Given the description of an element on the screen output the (x, y) to click on. 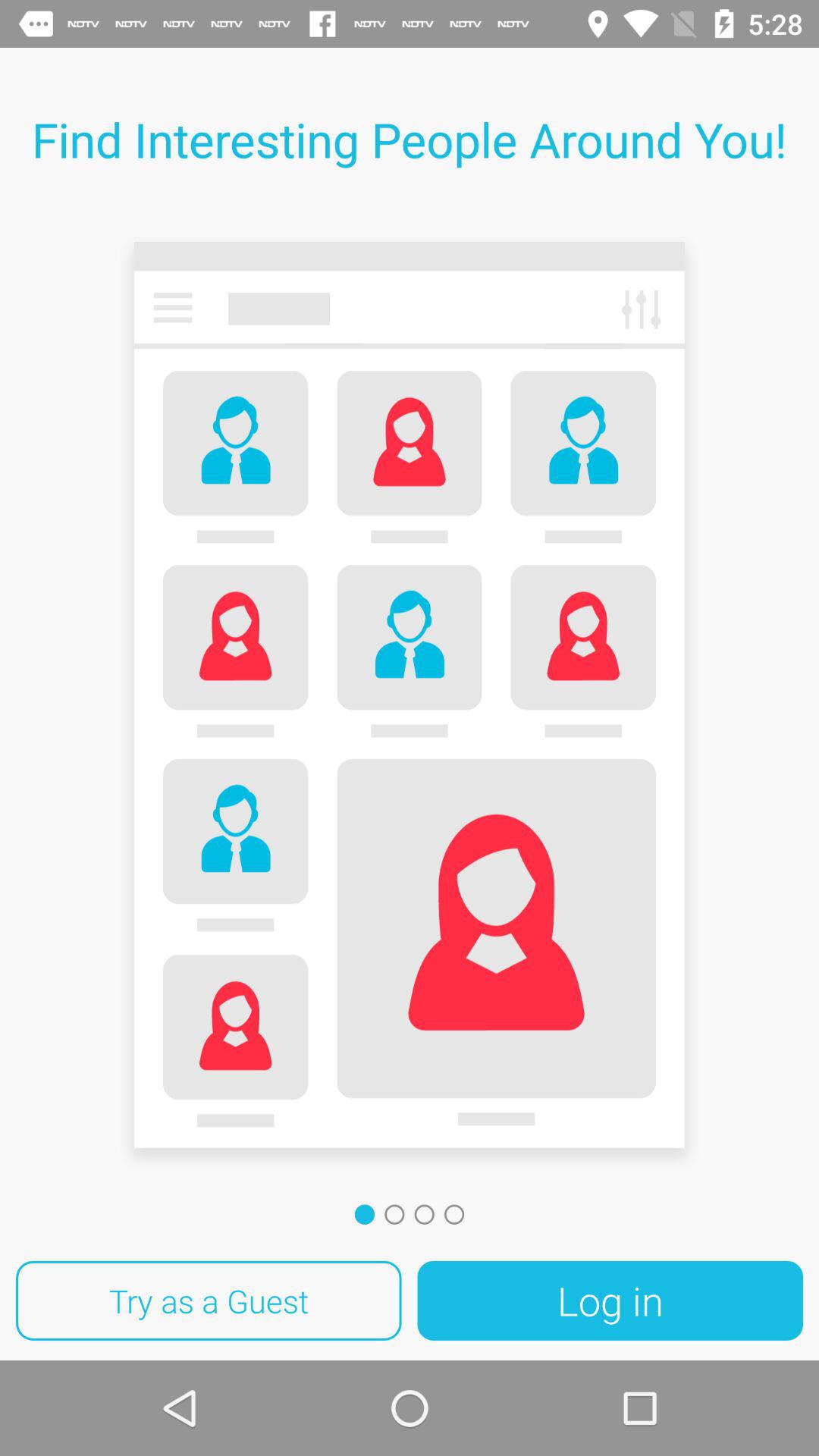
scroll to the log in (610, 1300)
